Given the description of an element on the screen output the (x, y) to click on. 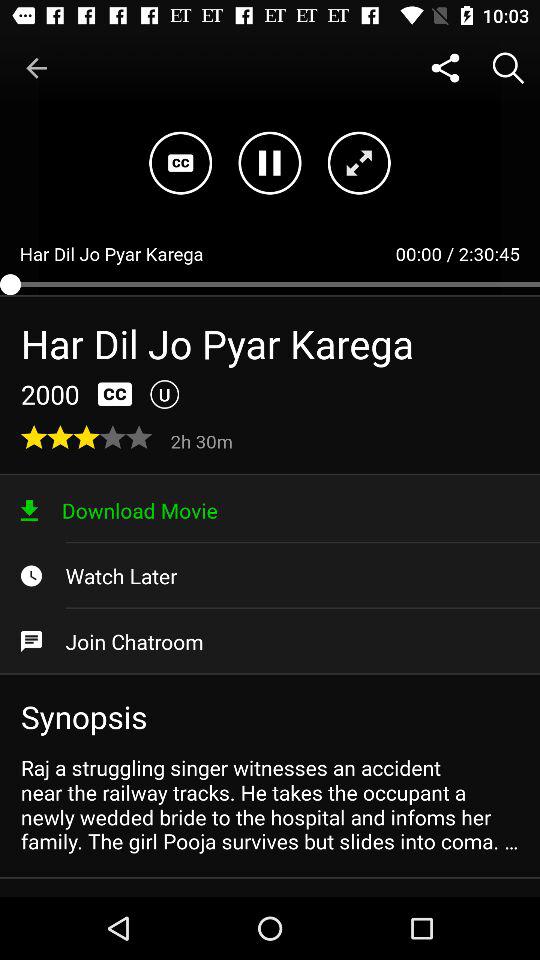
launch item above download movie icon (203, 440)
